Given the description of an element on the screen output the (x, y) to click on. 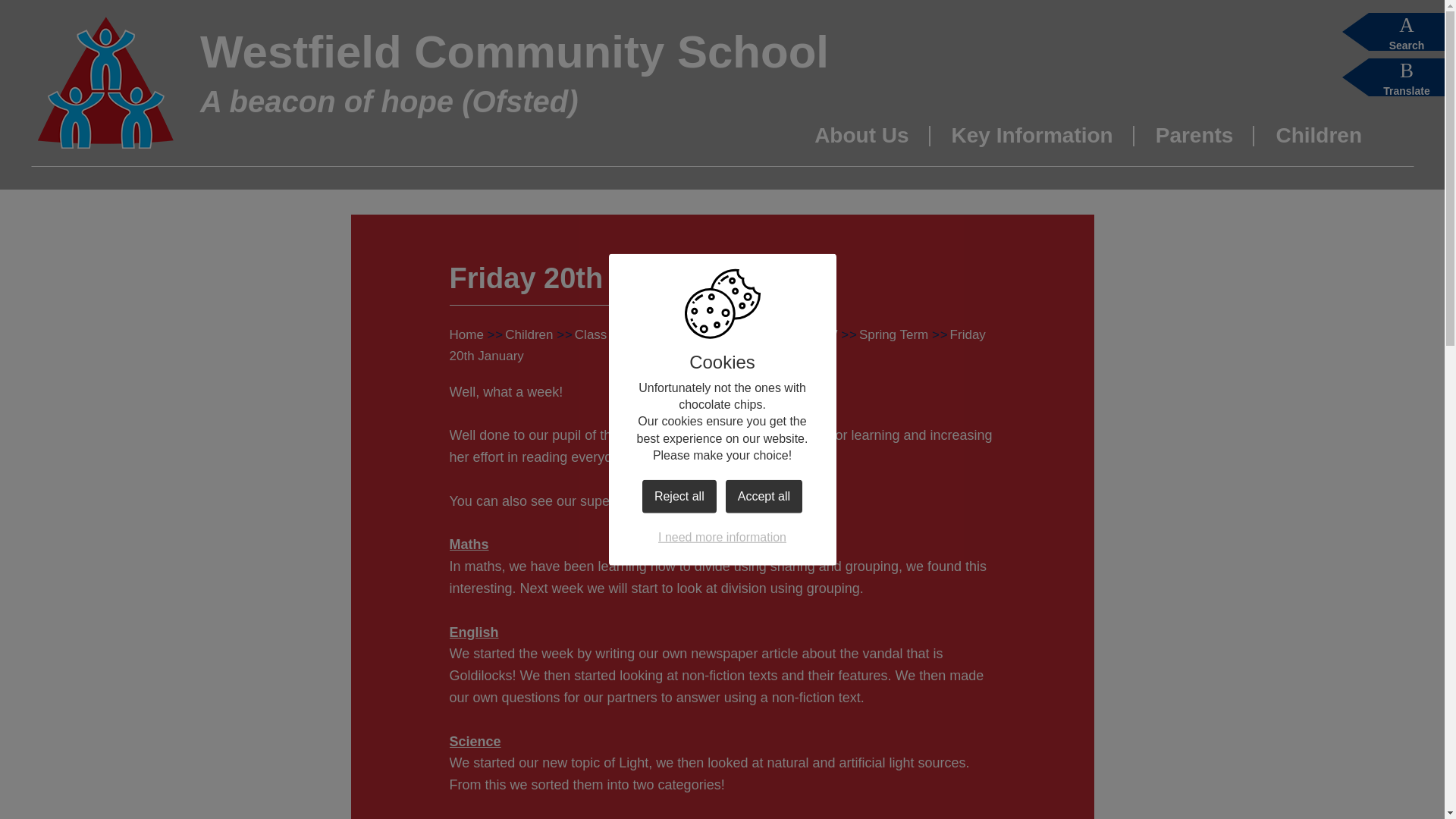
Home Page (105, 82)
Home Page (105, 82)
About Us (861, 142)
Parents (1194, 142)
Key Information (1032, 142)
